Given the description of an element on the screen output the (x, y) to click on. 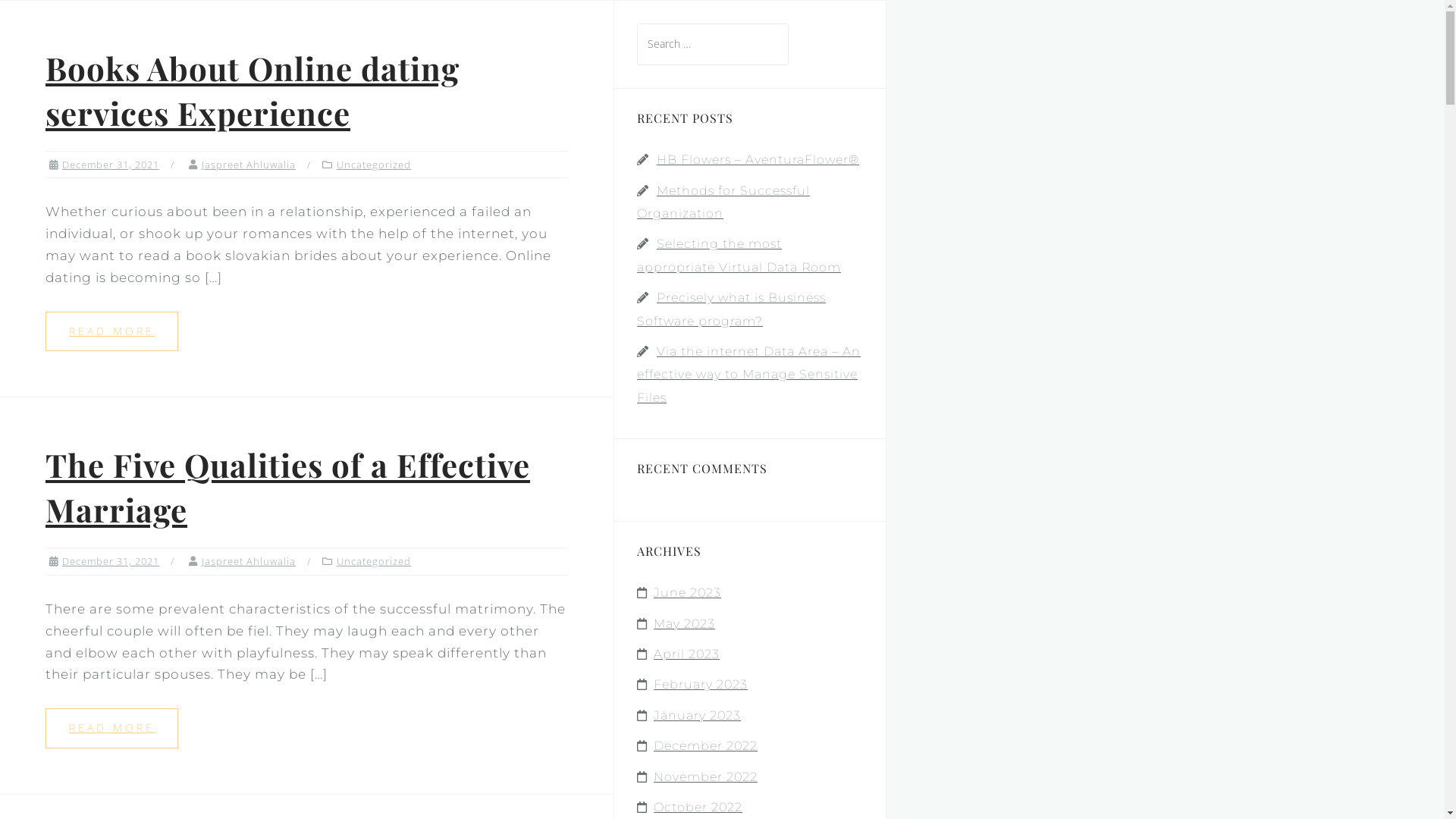
December 31, 2021 Element type: text (110, 164)
December 2022 Element type: text (705, 745)
READ MORE Element type: text (111, 728)
February 2023 Element type: text (700, 684)
November 2022 Element type: text (705, 776)
May 2023 Element type: text (684, 623)
April 2023 Element type: text (686, 653)
Selecting the most appropriate Virtual Data Room Element type: text (738, 254)
Uncategorized Element type: text (373, 560)
October 2022 Element type: text (697, 807)
Jaspreet Ahluwalia Element type: text (248, 164)
June 2023 Element type: text (687, 592)
Search Element type: text (51, 20)
The Five Qualities of a Effective Marriage Element type: text (287, 486)
Uncategorized Element type: text (373, 164)
READ MORE Element type: text (111, 331)
Precisely what is Business Software program? Element type: text (731, 308)
Books About Online dating services Experience Element type: text (252, 90)
Methods for Successful Organization Element type: text (723, 201)
December 31, 2021 Element type: text (110, 560)
January 2023 Element type: text (696, 715)
Jaspreet Ahluwalia Element type: text (248, 560)
